Given the description of an element on the screen output the (x, y) to click on. 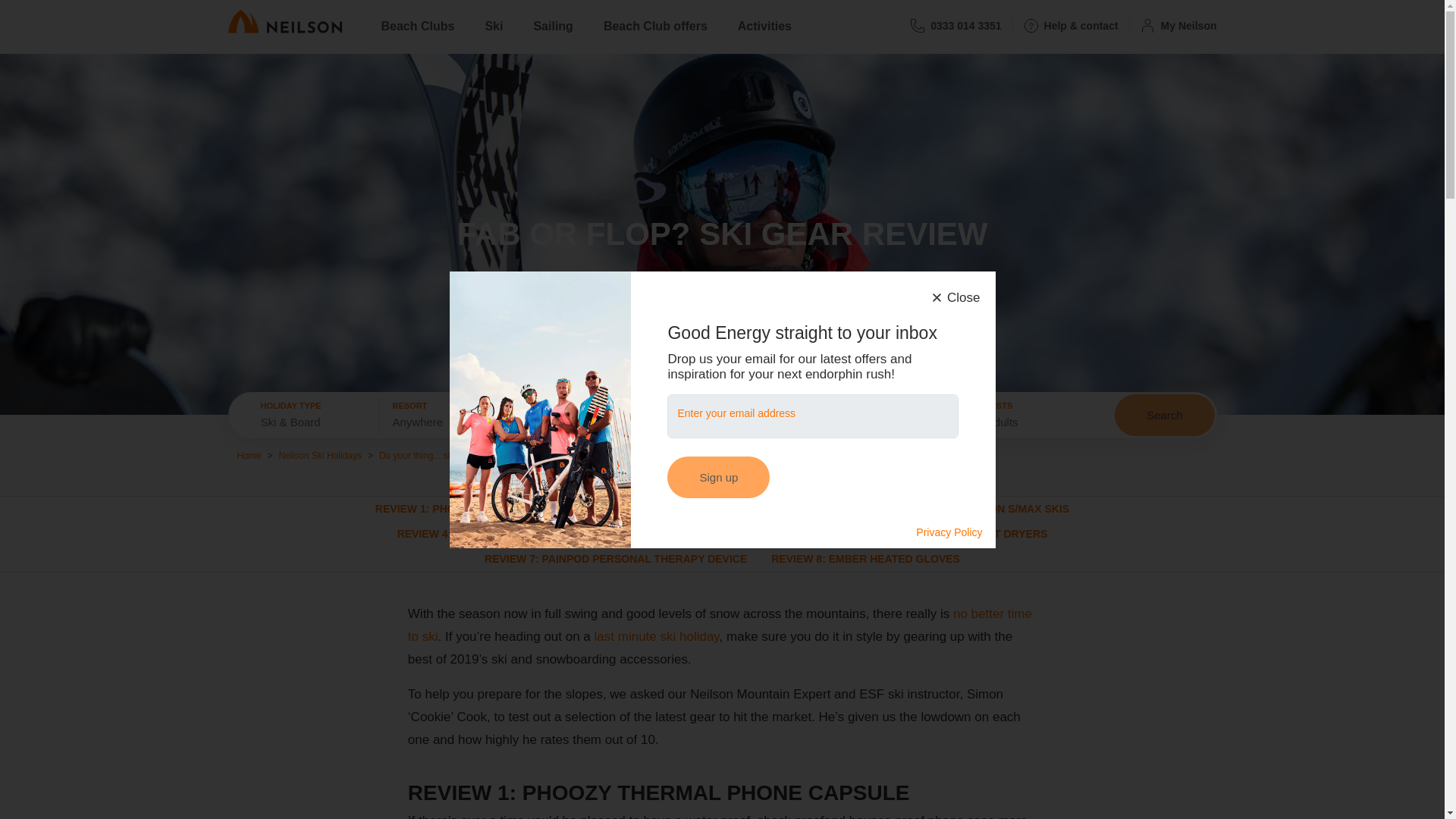
My Neilson (1173, 20)
0333 014 3351 (955, 20)
Sign up (718, 476)
Beach Clubs (416, 20)
Ski holidays (719, 624)
